Given the description of an element on the screen output the (x, y) to click on. 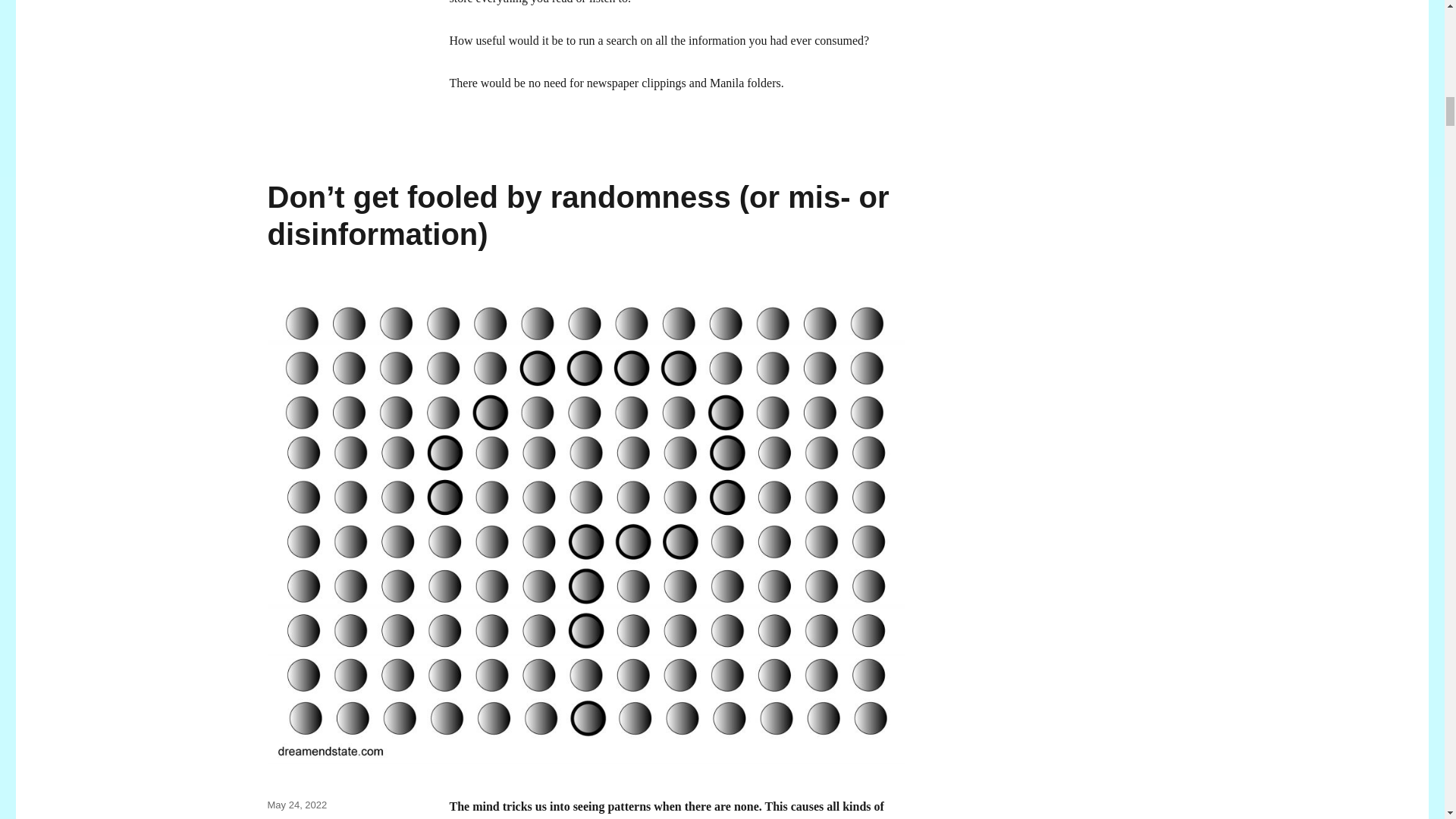
May 24, 2022 (296, 804)
